Given the description of an element on the screen output the (x, y) to click on. 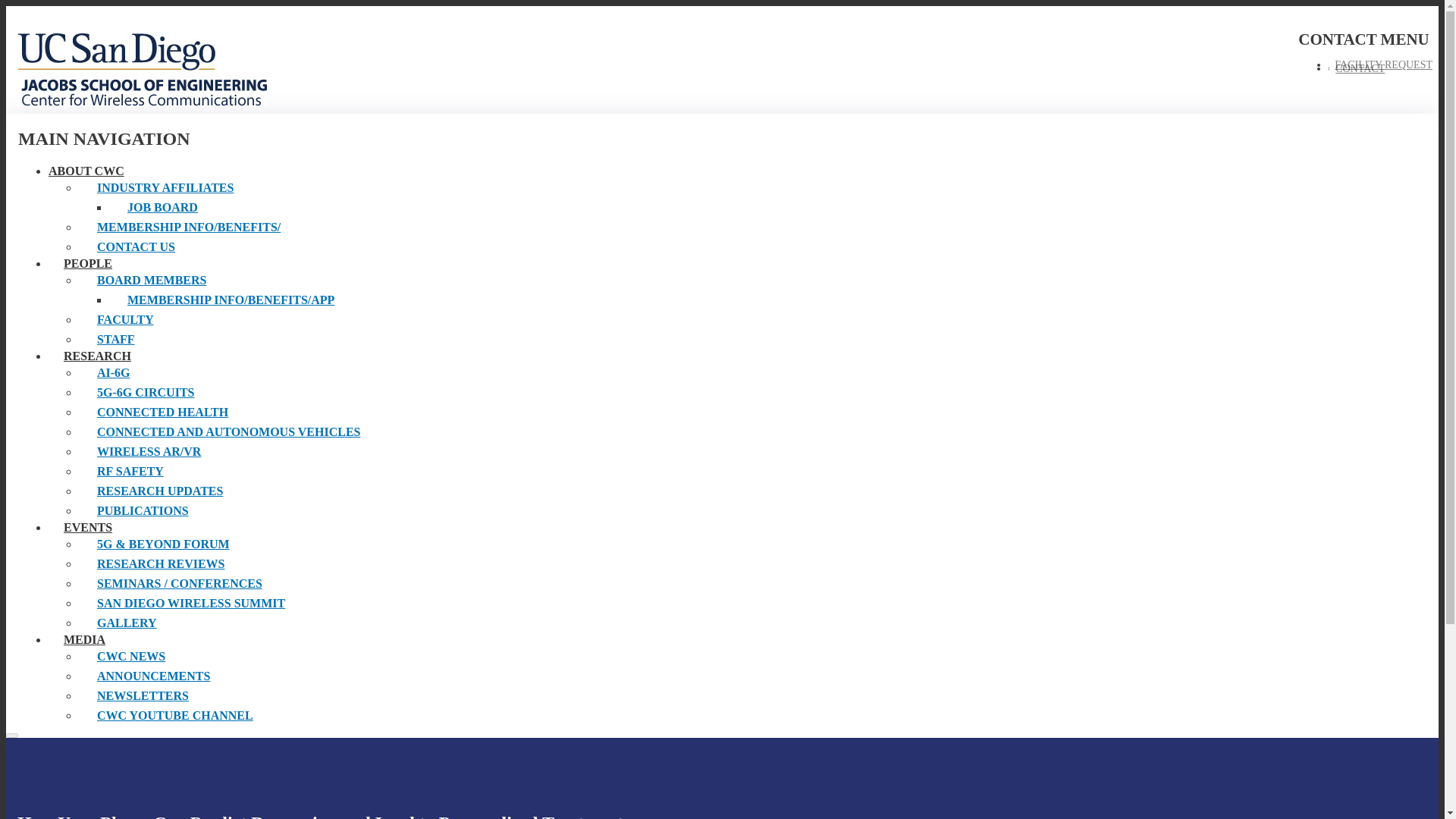
INDUSTRY AFFILIATES (228, 188)
MEDIA (84, 639)
STAFF (228, 339)
SAN DIEGO WIRELESS SUMMIT (228, 603)
PEOPLE (88, 263)
AI-6G (228, 373)
FACULTY (228, 320)
CONTACT (1359, 67)
JOB BOARD (243, 207)
Skip to main content (722, 7)
RESEARCH (97, 355)
BOARD MEMBERS (228, 280)
RESEARCH REVIEWS (228, 564)
PUBLICATIONS (228, 510)
GALLERY (228, 623)
